Given the description of an element on the screen output the (x, y) to click on. 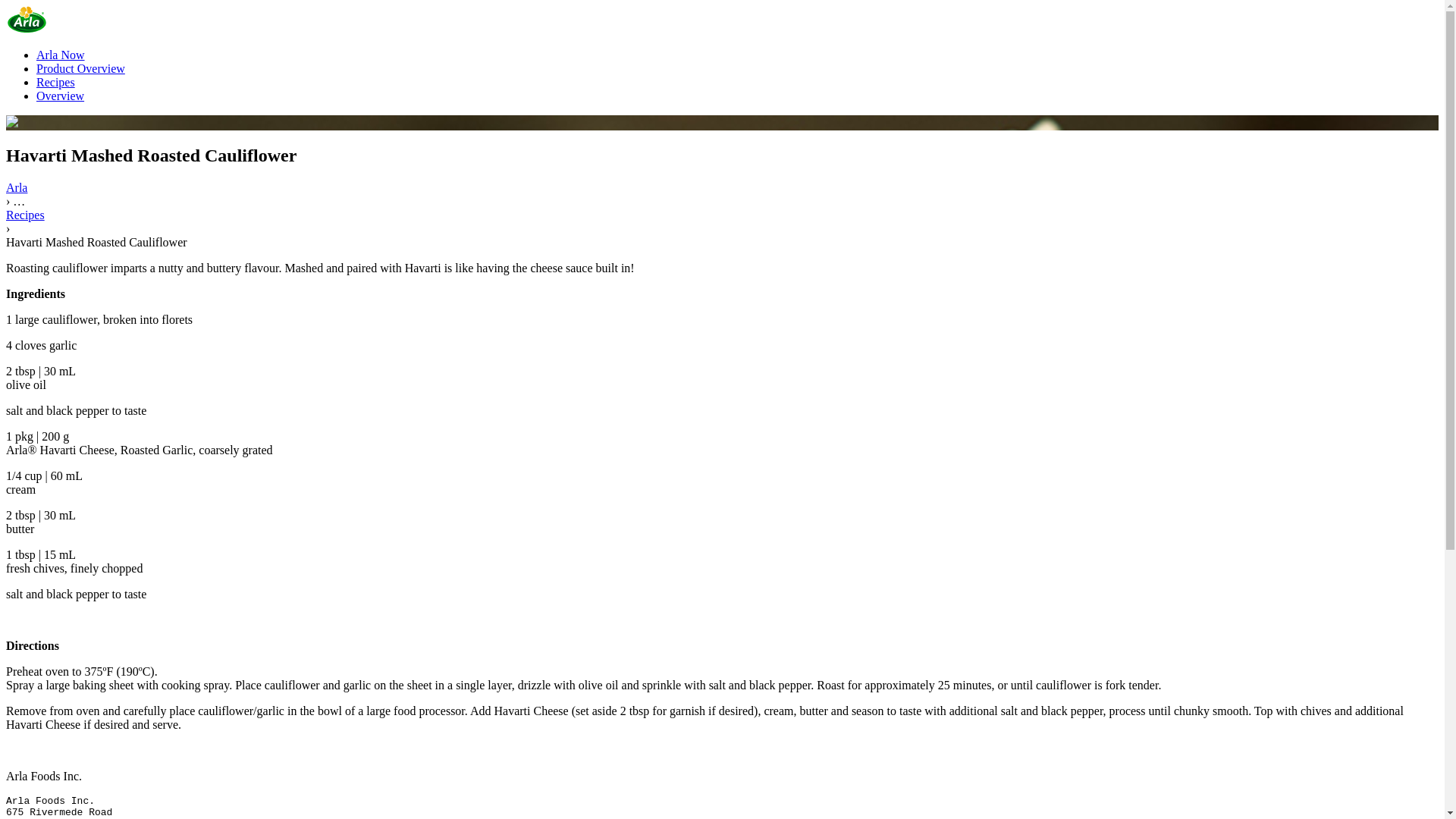
Arla Element type: text (16, 187)
Arla Now Element type: text (60, 54)
Product Overview Element type: text (80, 68)
Recipes Element type: text (55, 81)
Overview Element type: text (60, 95)
Recipes Element type: text (25, 214)
